Given the description of an element on the screen output the (x, y) to click on. 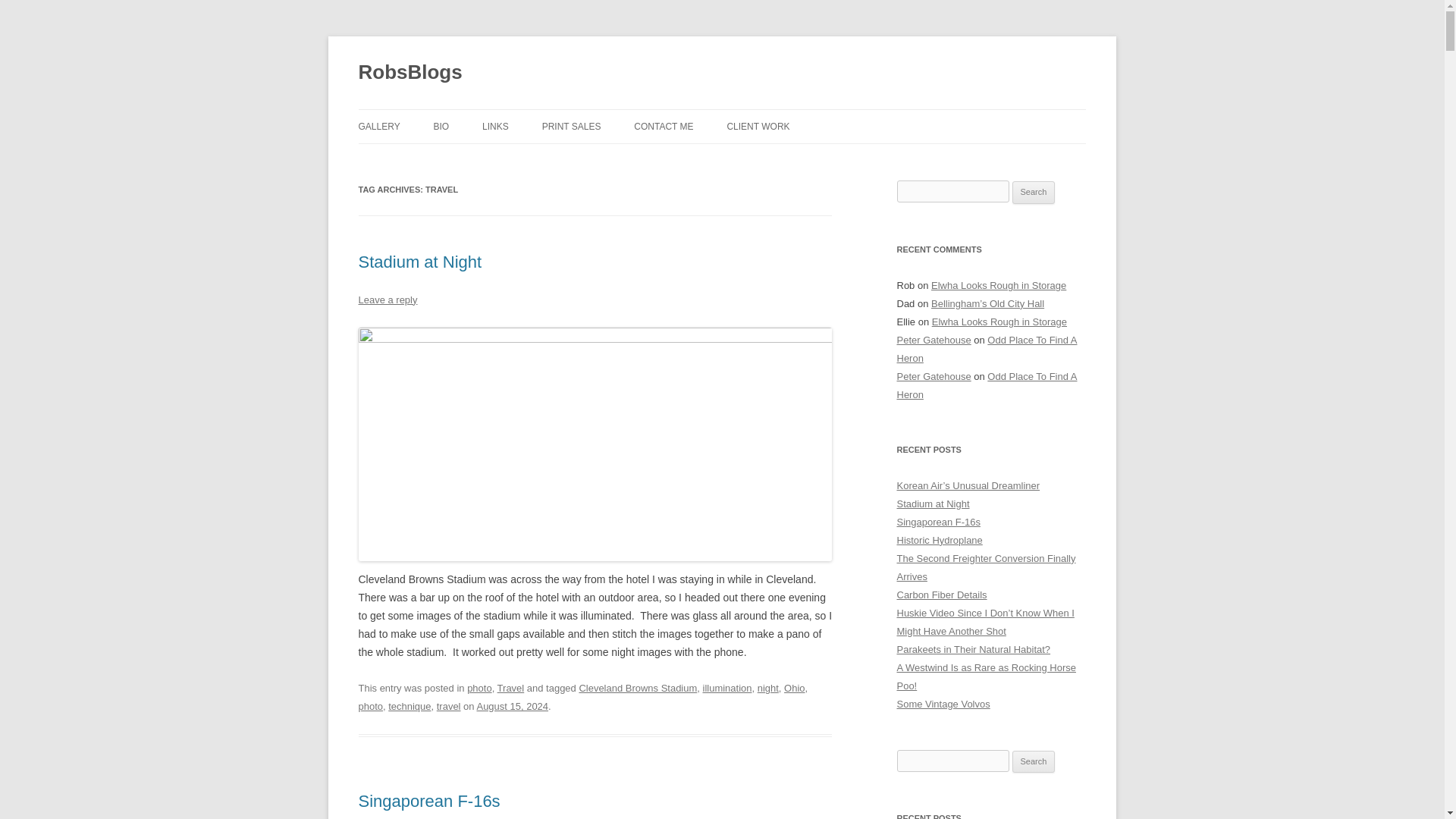
technique (409, 706)
5:00 am (512, 706)
MIDWEST HELICOPTERS (801, 158)
Cleveland Browns Stadium (637, 687)
Singaporean F-16s (428, 800)
illumination (727, 687)
CLIENT WORK (757, 126)
August 15, 2024 (512, 706)
Leave a reply (387, 299)
Travel (510, 687)
